Given the description of an element on the screen output the (x, y) to click on. 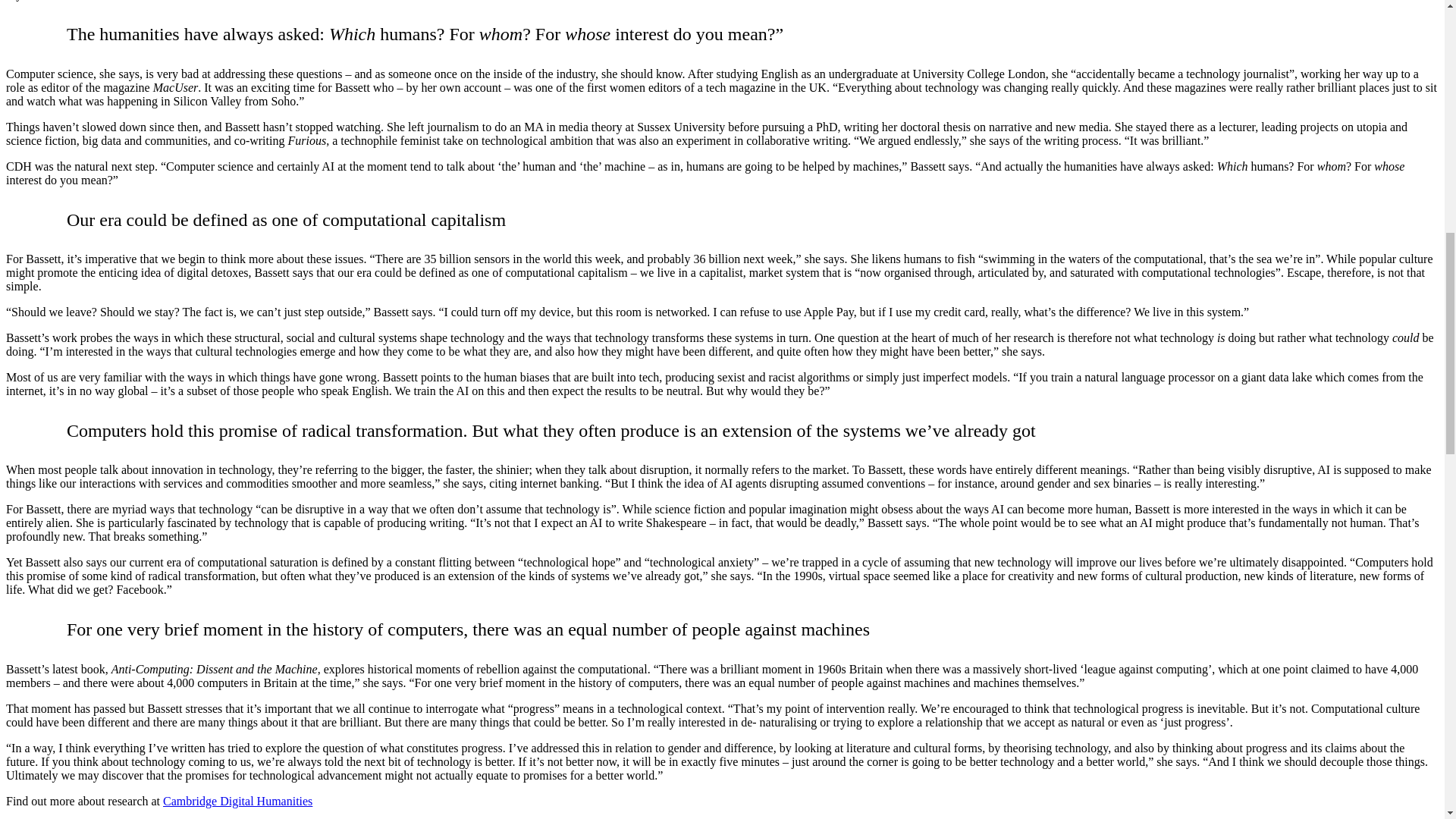
Cambridge Digital Humanities (238, 800)
